Given the description of an element on the screen output the (x, y) to click on. 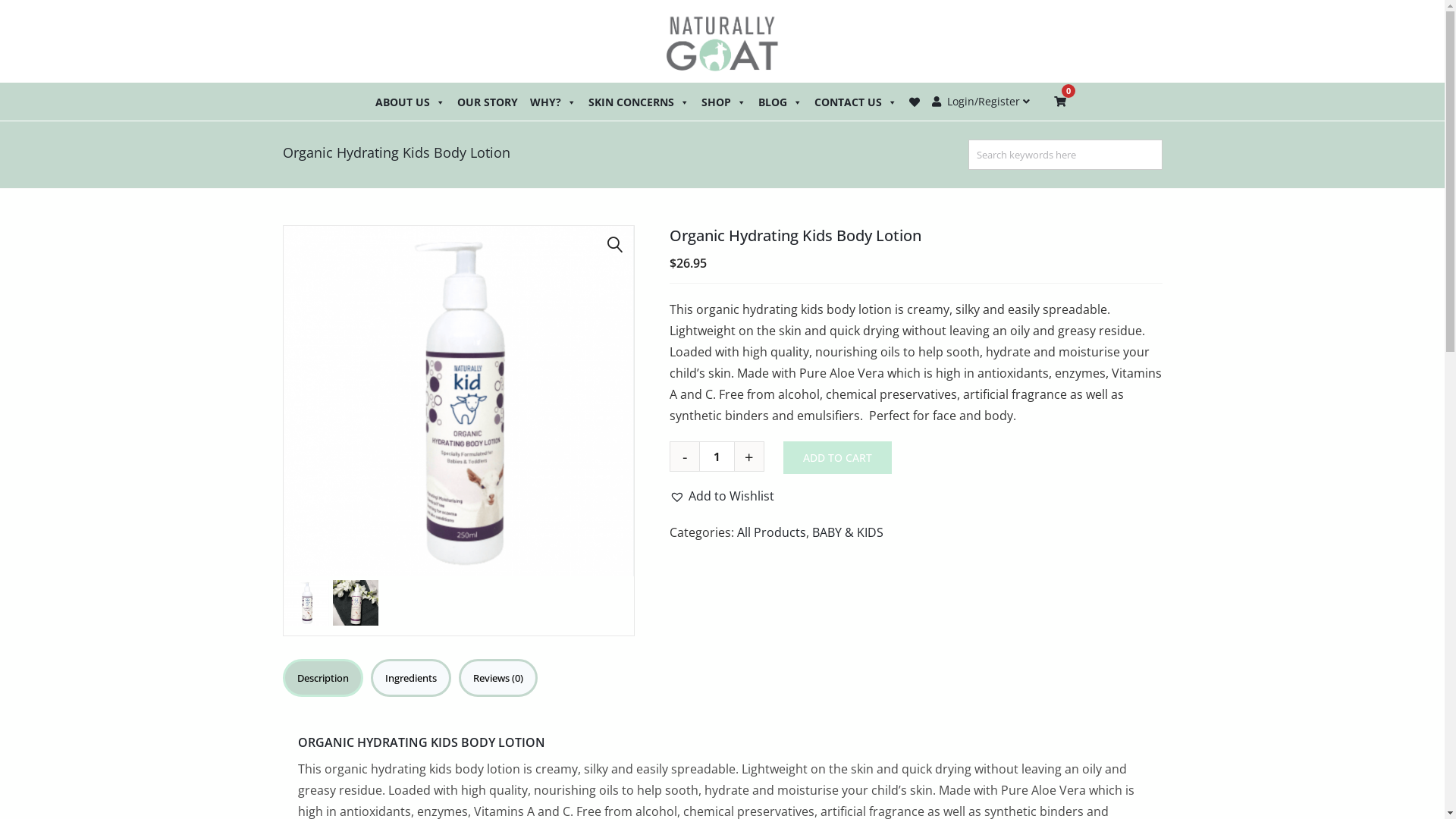
0 Element type: text (1059, 101)
CONTACT US Element type: text (855, 102)
Add to Wishlist Element type: text (721, 495)
ADD TO CART Element type: text (837, 457)
Screen Shot 2021-03-02 at 2.43.50 pm Element type: hover (458, 400)
Ingredients Element type: text (410, 677)
All Products Element type: text (771, 532)
Log In Element type: text (959, 247)
Description Element type: text (322, 677)
Naturally Goat Element type: hover (722, 40)
Reviews (0) Element type: text (497, 677)
ABOUT US Element type: text (410, 102)
WHY? Element type: text (553, 102)
SHOP Element type: text (723, 102)
Login/Register Element type: text (980, 101)
SKIN CONCERNS Element type: text (638, 102)
OUR STORY Element type: text (487, 102)
BLOG Element type: text (780, 102)
BABY & KIDS Element type: text (847, 532)
